Given the description of an element on the screen output the (x, y) to click on. 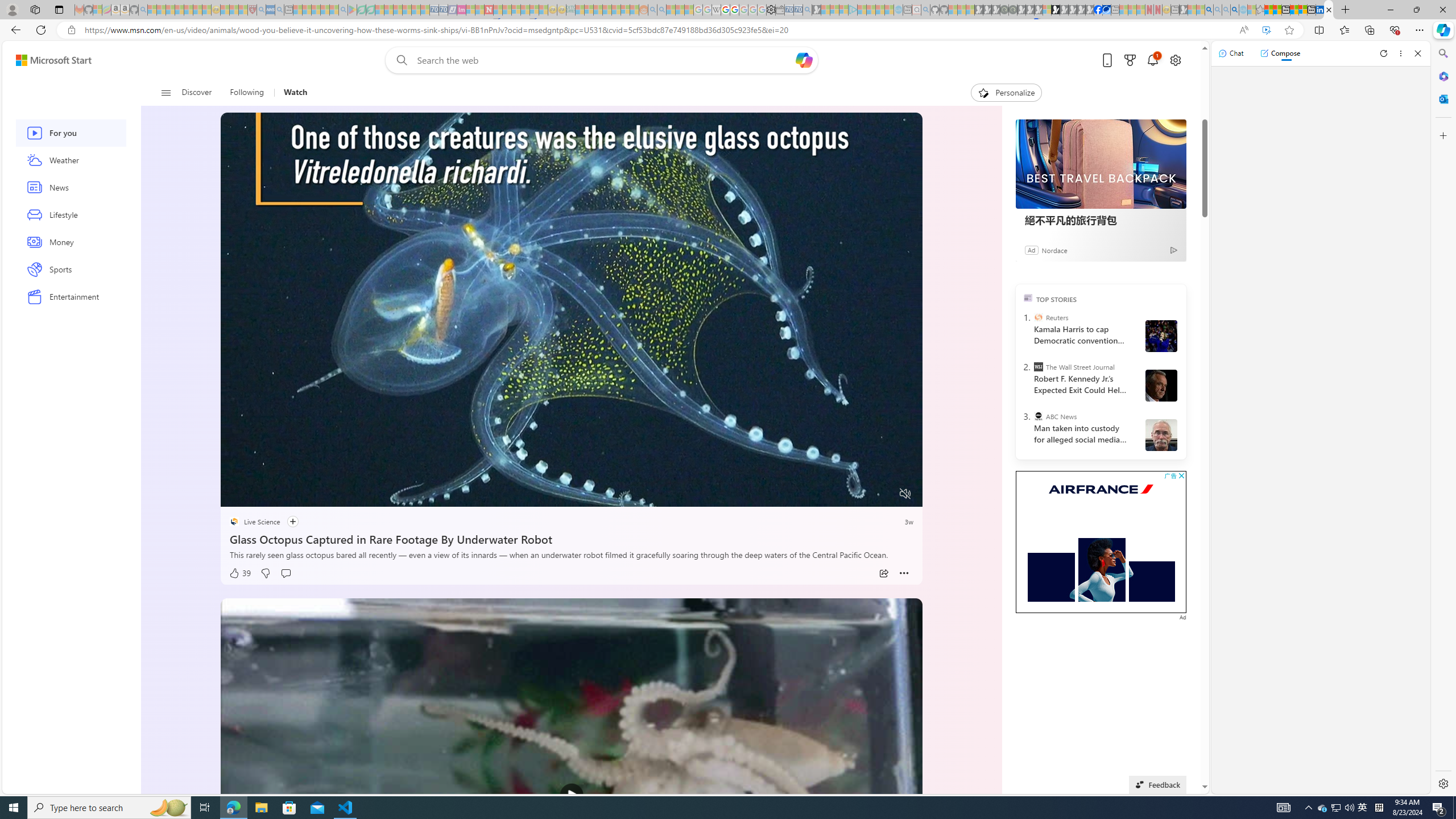
Microsoft Start Gaming - Sleeping (815, 9)
Glass Octopus Captured in Rare Footage By Underwater Robot (571, 537)
Class: at-item inline-watch (903, 573)
Unmute (905, 493)
Favorites - Sleeping (1259, 9)
